Given the description of an element on the screen output the (x, y) to click on. 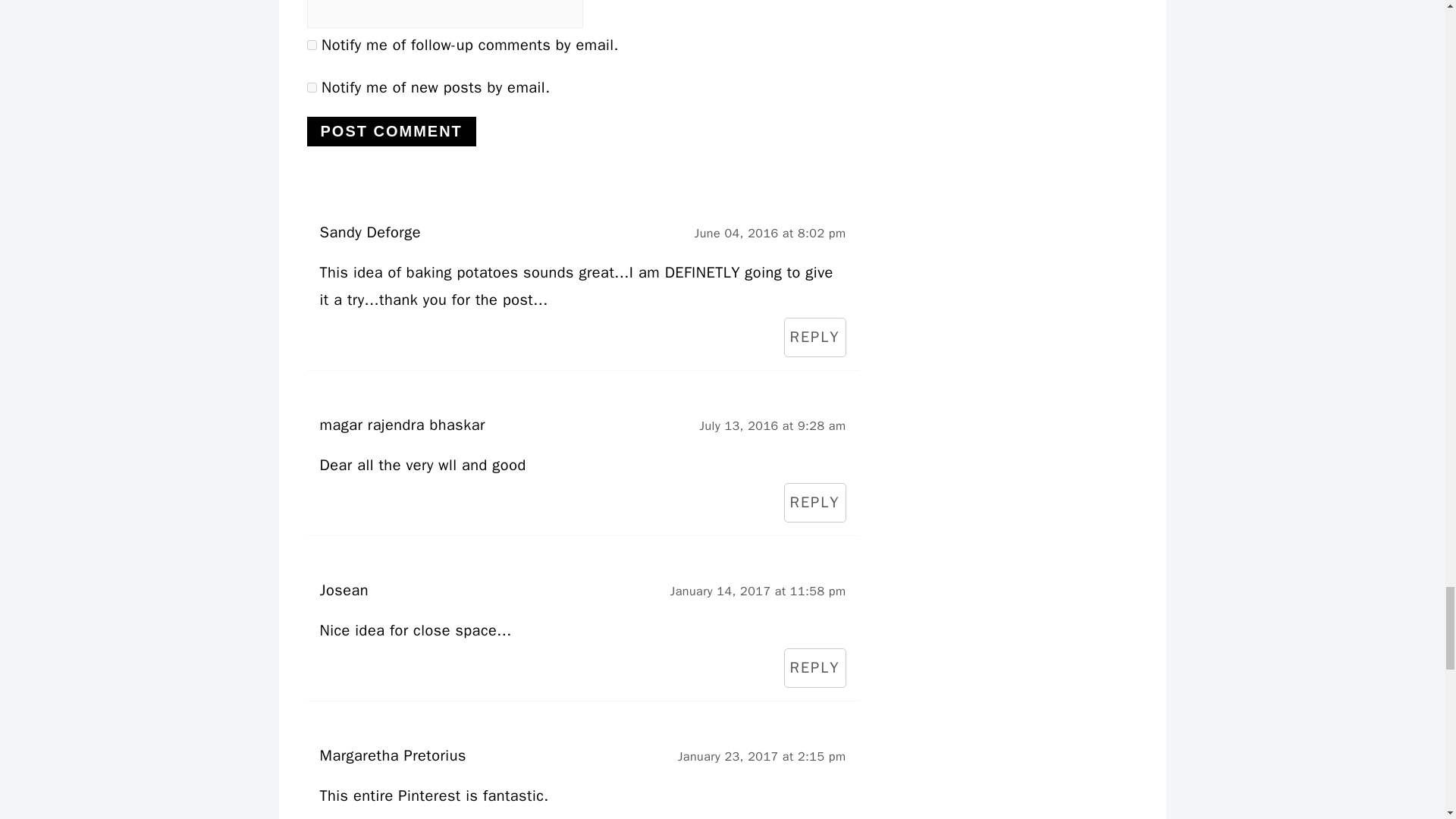
subscribe (310, 87)
subscribe (310, 44)
Post Comment (390, 131)
